Given the description of an element on the screen output the (x, y) to click on. 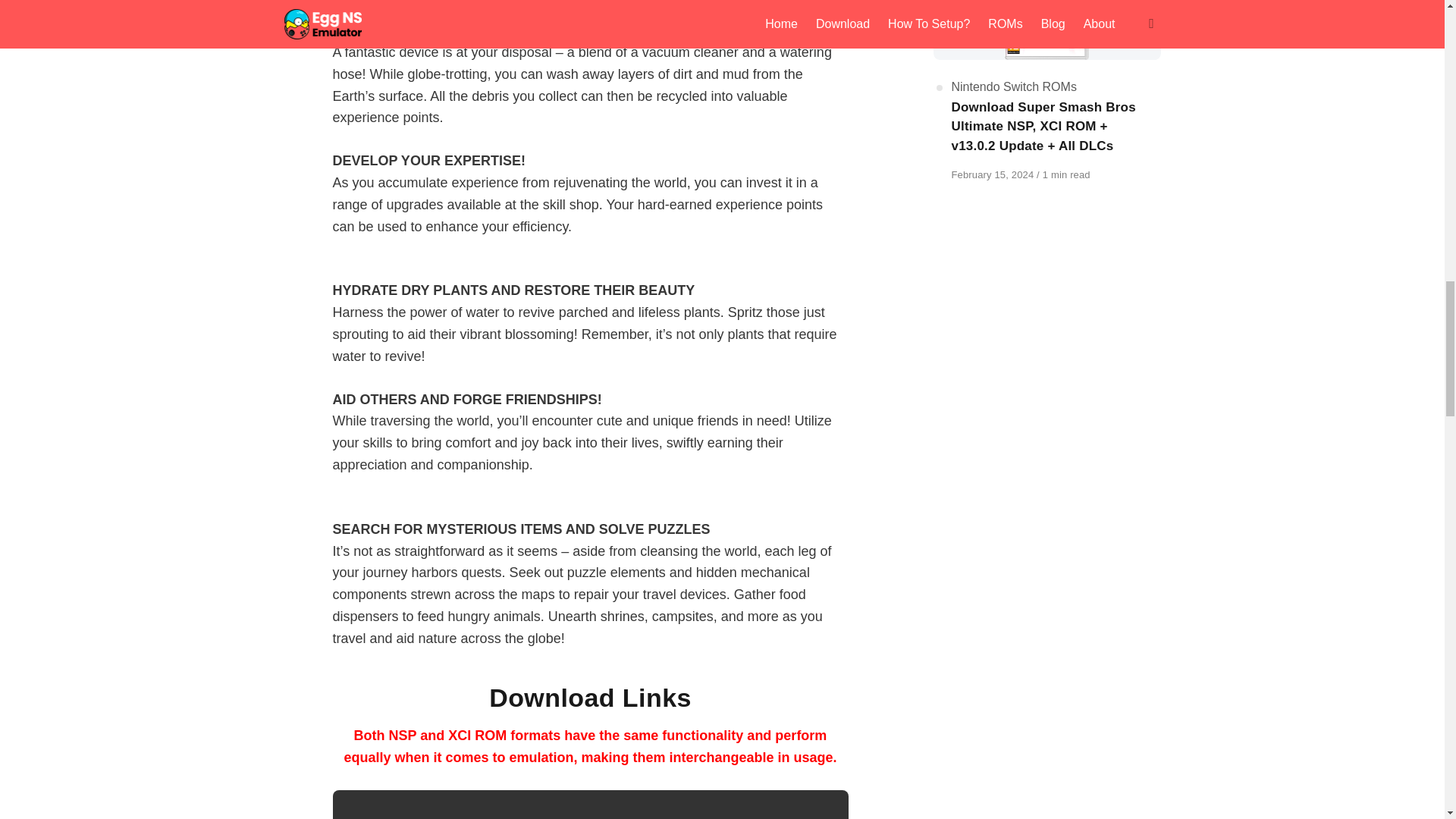
Nintendo Switch ROMs (1012, 86)
February 15, 2024 (993, 174)
